Given the description of an element on the screen output the (x, y) to click on. 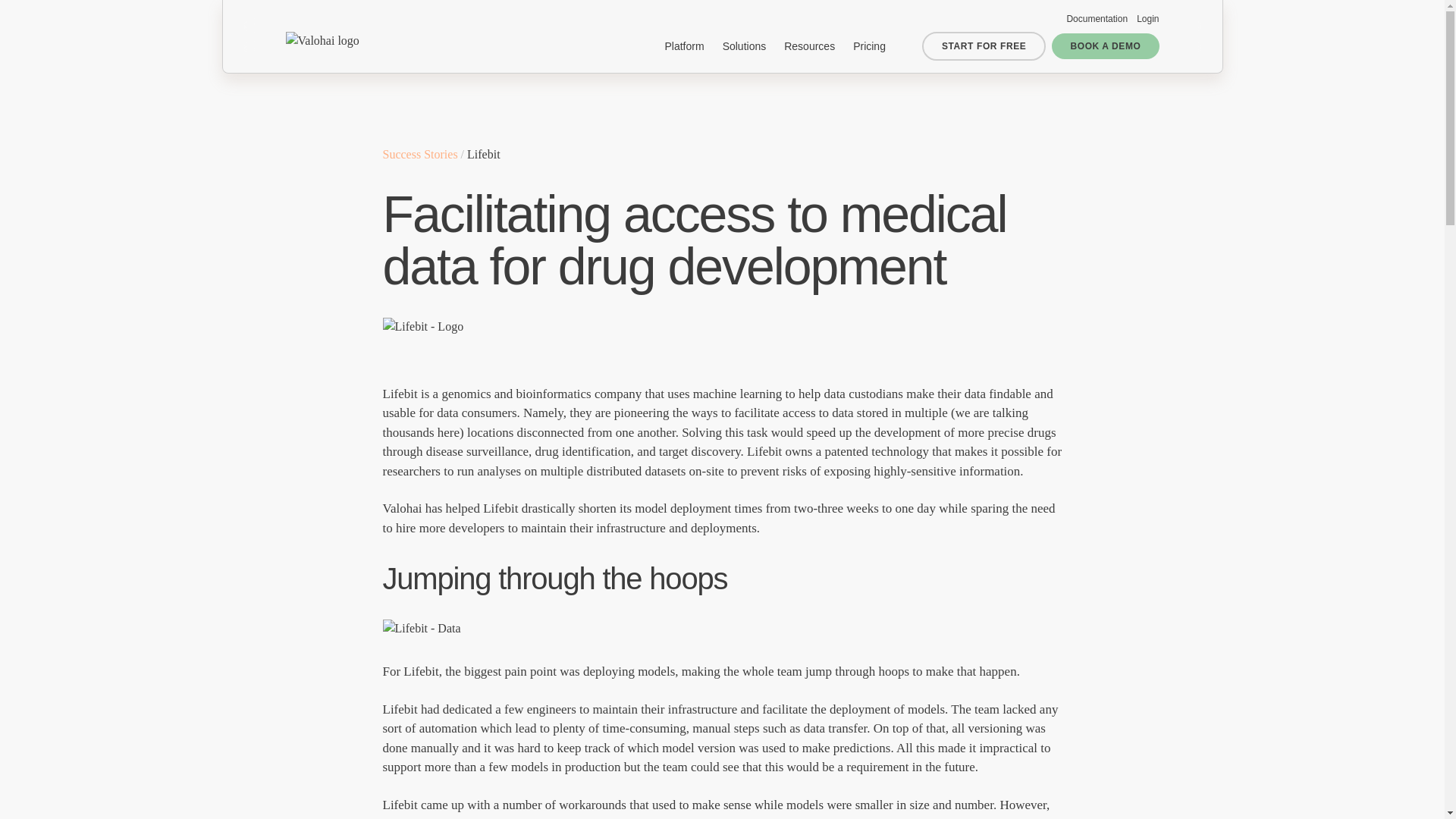
Pricing (869, 45)
Login (1147, 18)
Success Stories (419, 154)
START FOR FREE (983, 45)
BOOK A DEMO (1104, 45)
Documentation (1095, 18)
